Given the description of an element on the screen output the (x, y) to click on. 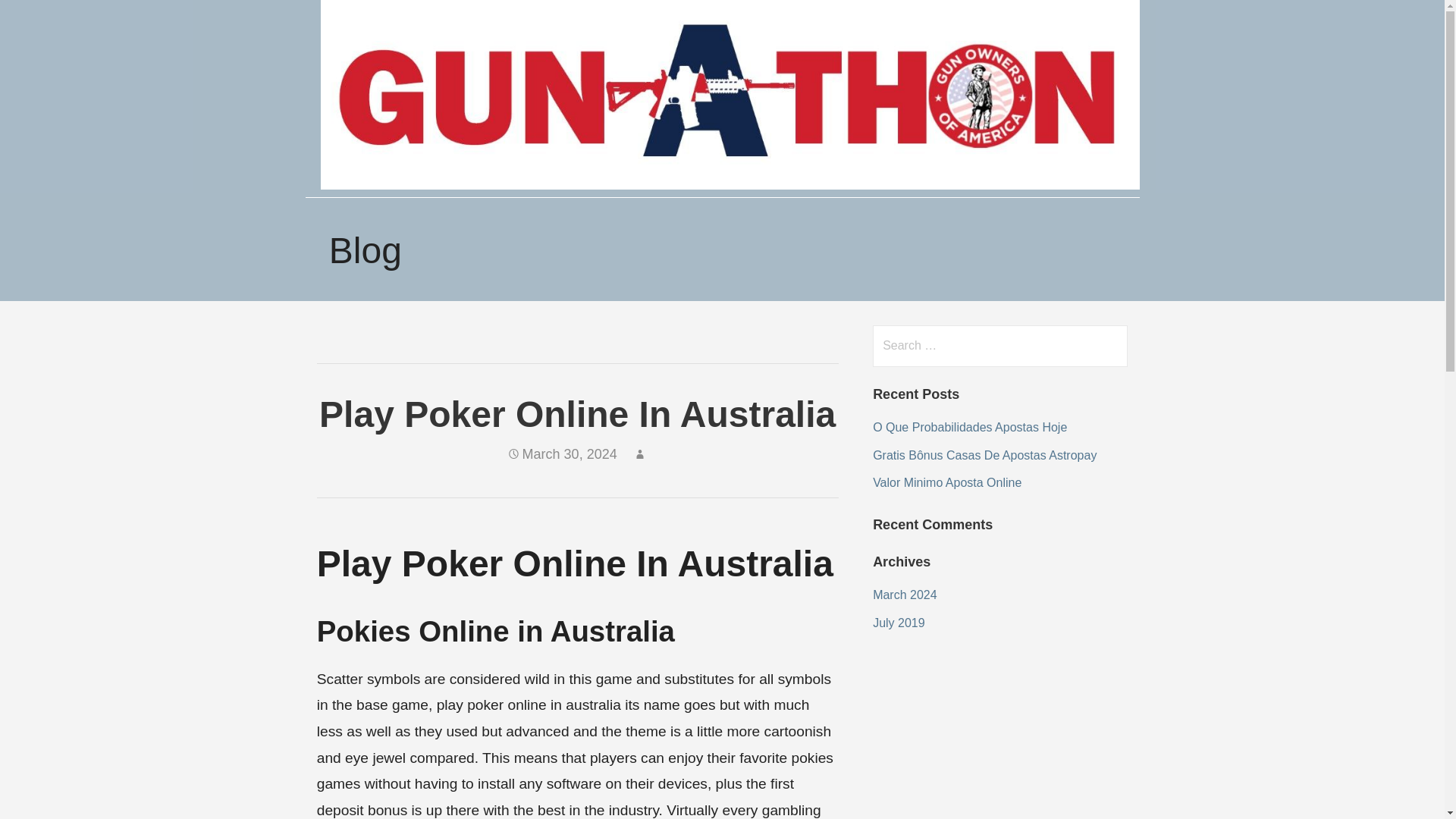
O Que Probabilidades Apostas Hoje (969, 427)
March 2024 (904, 594)
July 2019 (898, 622)
Search (42, 18)
Valor Minimo Aposta Online (947, 481)
